Given the description of an element on the screen output the (x, y) to click on. 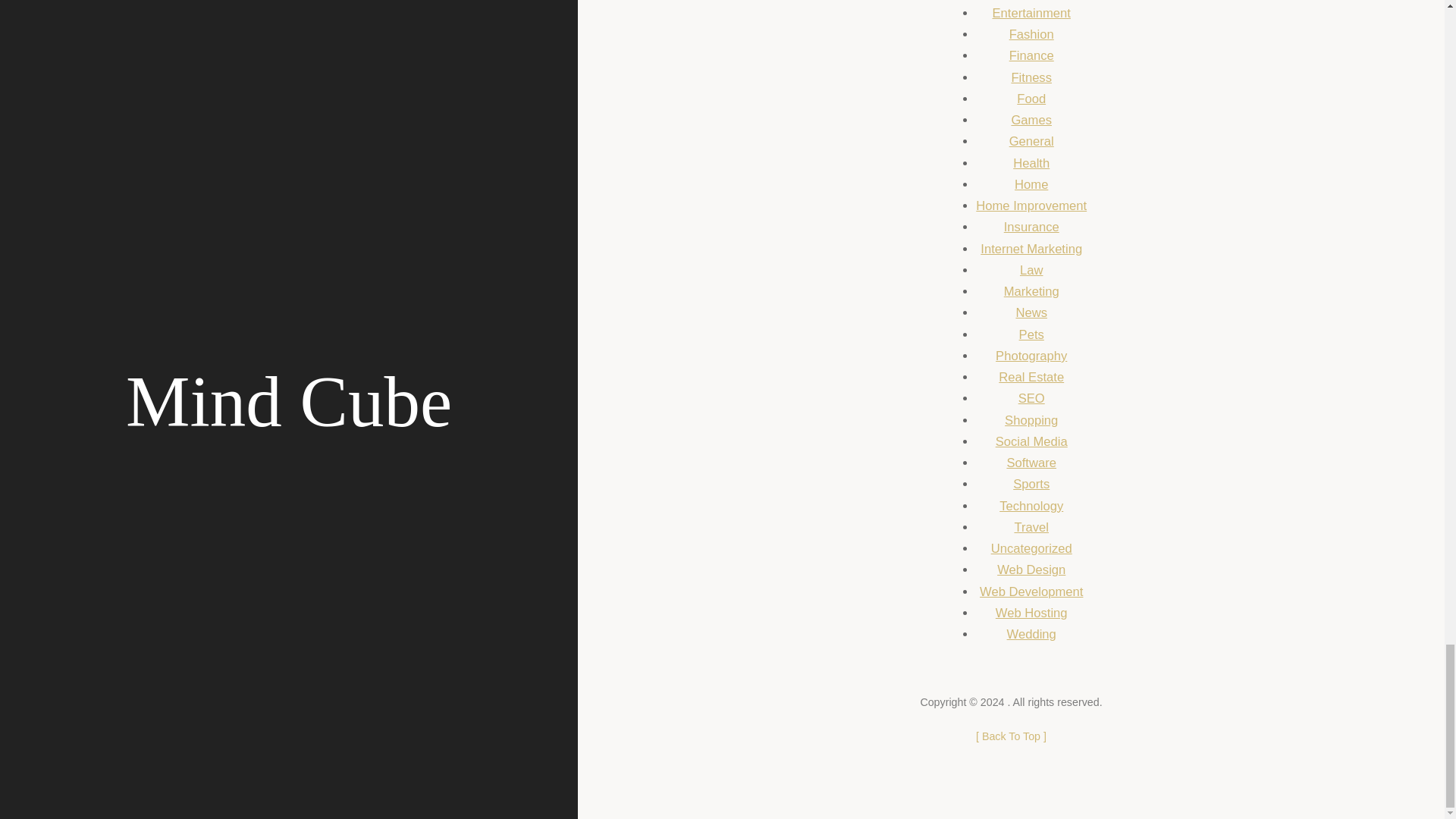
Back To Top (1010, 736)
